Given the description of an element on the screen output the (x, y) to click on. 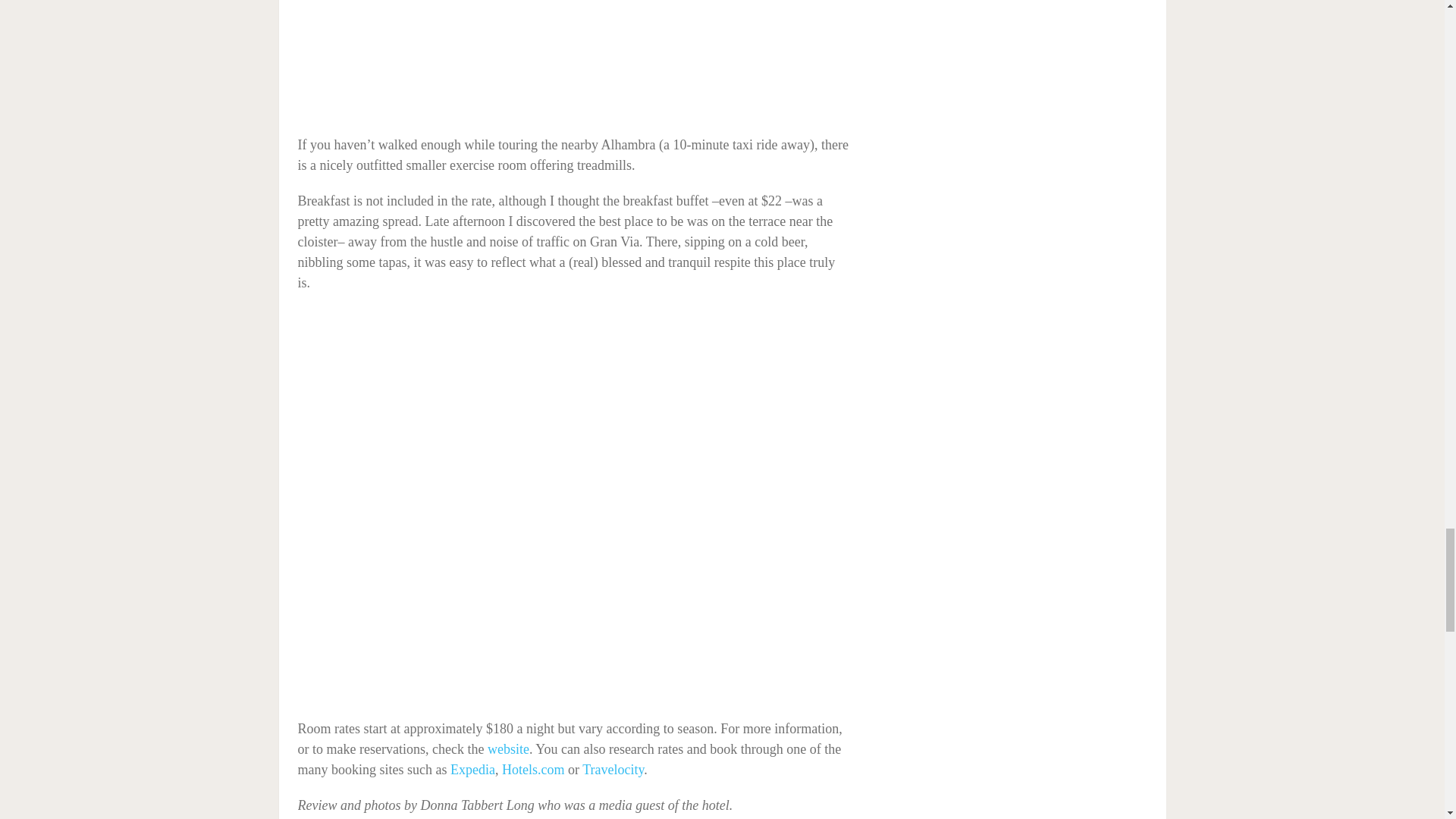
Expedia (472, 769)
Hotels.com (533, 769)
website (508, 749)
Travelocity (612, 769)
